Given the description of an element on the screen output the (x, y) to click on. 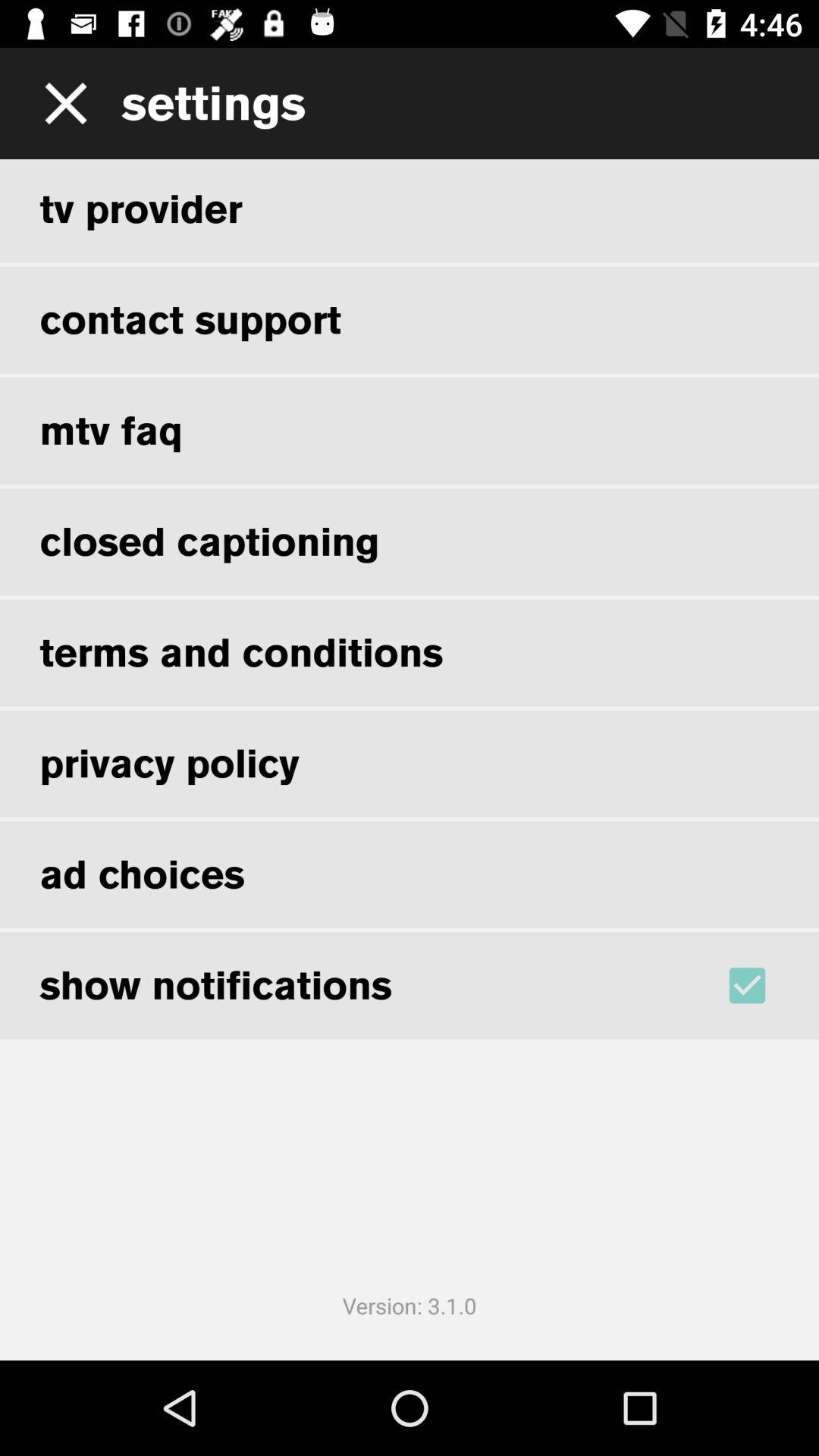
close menu (60, 103)
